Given the description of an element on the screen output the (x, y) to click on. 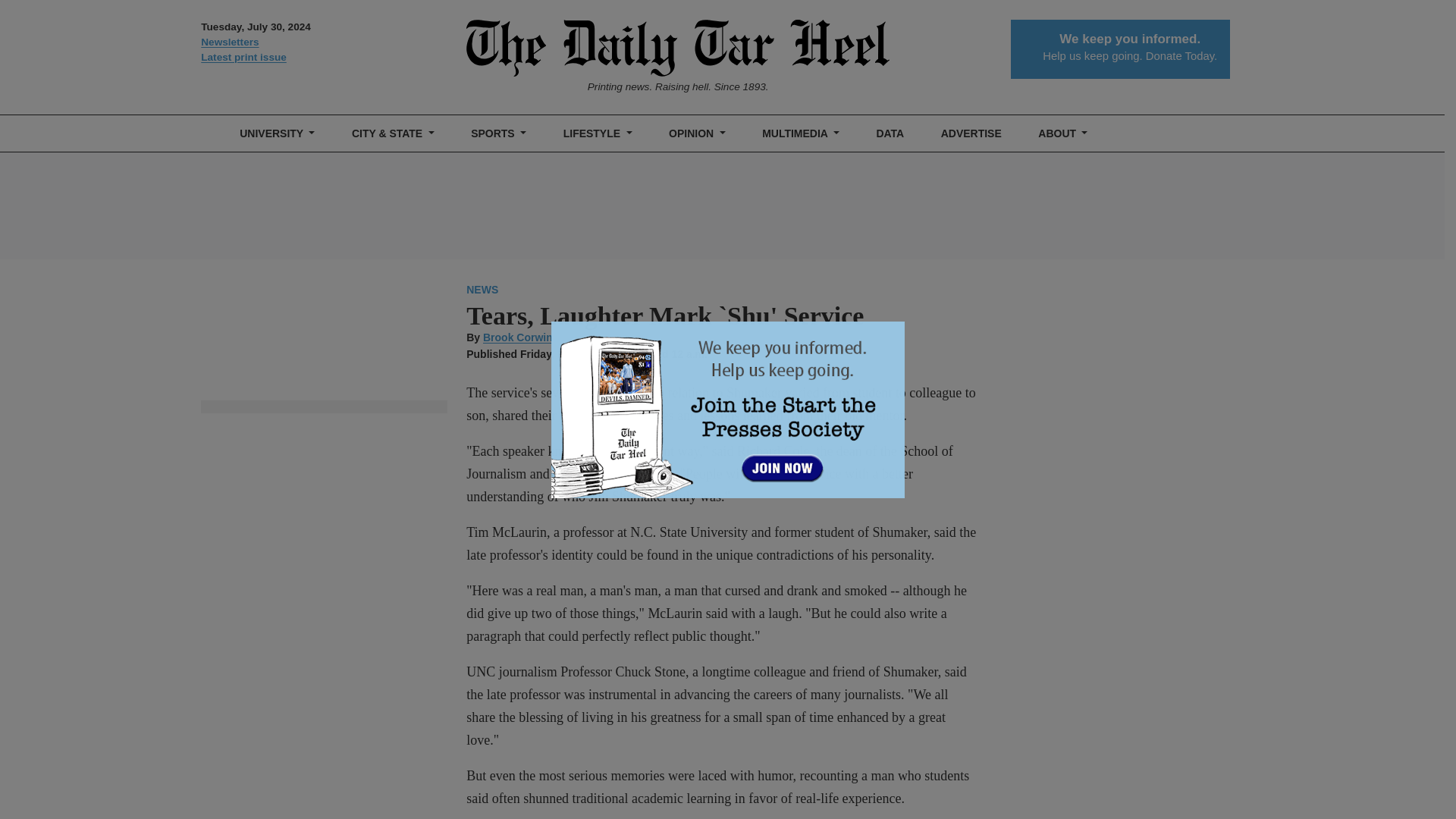
We keep you informed. (1129, 38)
SPORTS (498, 132)
LIFESTYLE (597, 132)
OPINION (697, 132)
Latest print issue (323, 57)
Newsletters (323, 42)
Data (890, 132)
Advertise (970, 132)
UNIVERSITY (276, 132)
